Given the description of an element on the screen output the (x, y) to click on. 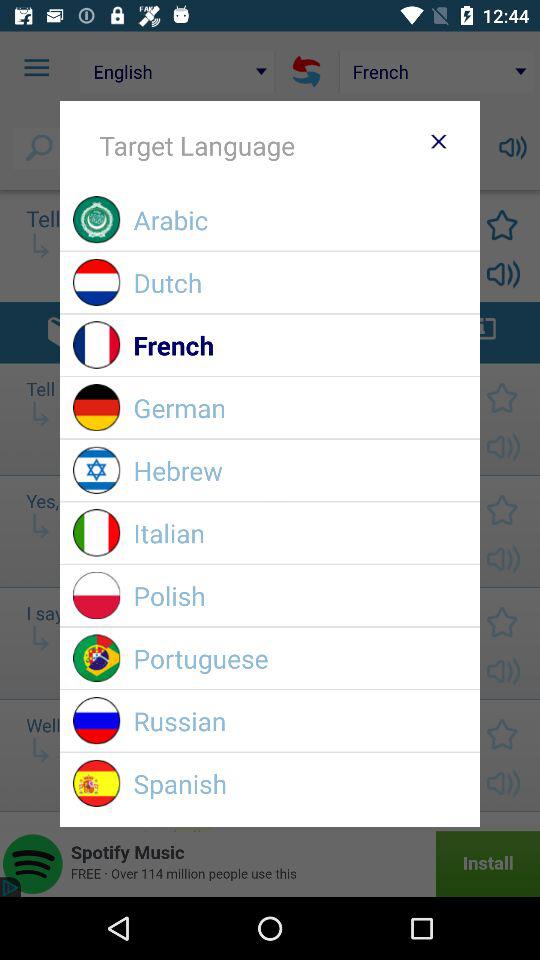
launch item above portuguese (300, 595)
